Given the description of an element on the screen output the (x, y) to click on. 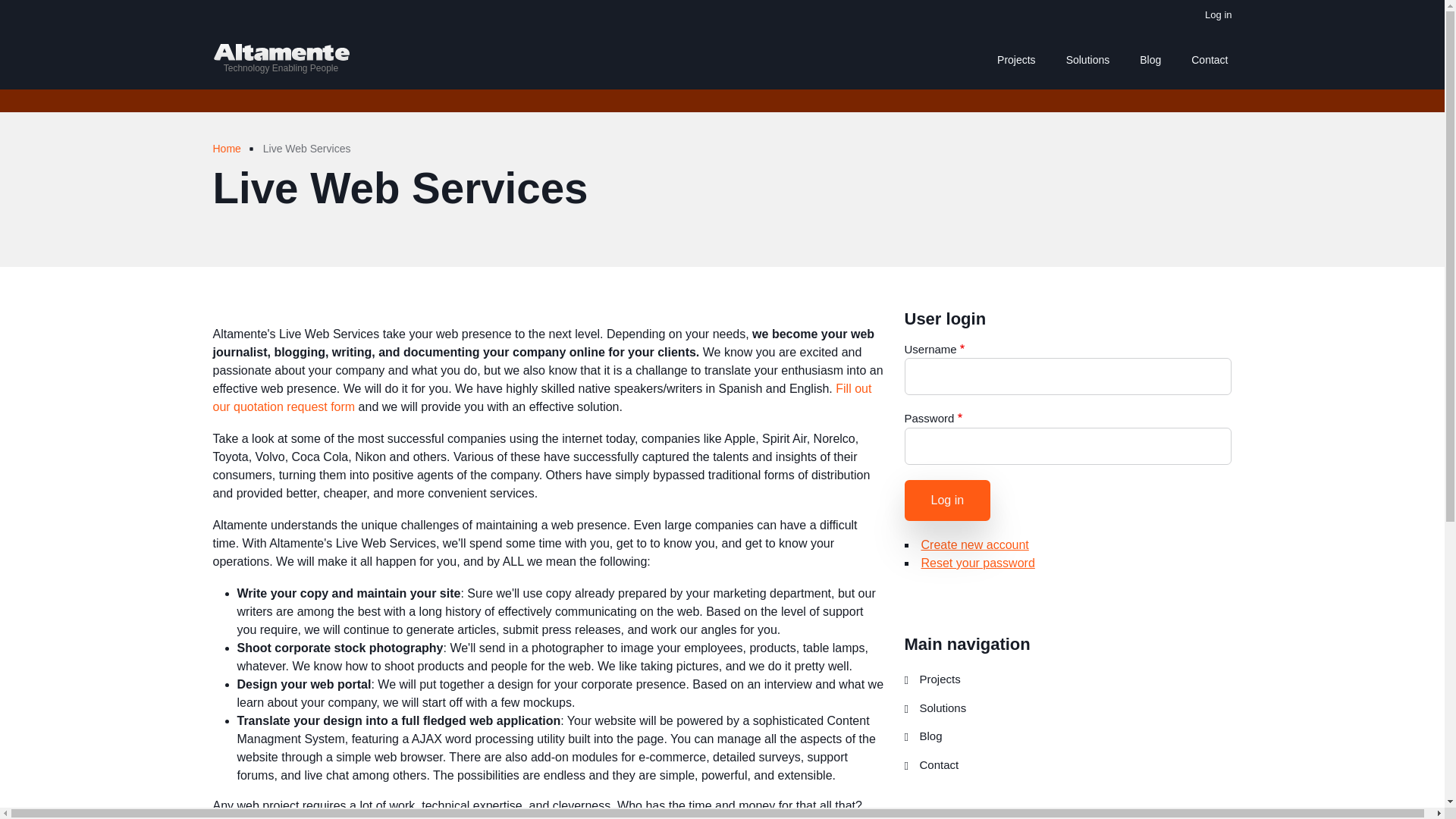
Fill out our quotation request form (541, 397)
Home (226, 148)
Reset your password (976, 562)
Create a new user account. (973, 544)
Solutions (1067, 708)
Projects (1067, 679)
Home (280, 51)
Solutions (1088, 59)
Create new account (973, 544)
Blog (1150, 59)
Projects (1016, 59)
Log in (947, 499)
Contact (1067, 765)
Send password reset instructions via email. (976, 562)
Blog (1067, 736)
